Given the description of an element on the screen output the (x, y) to click on. 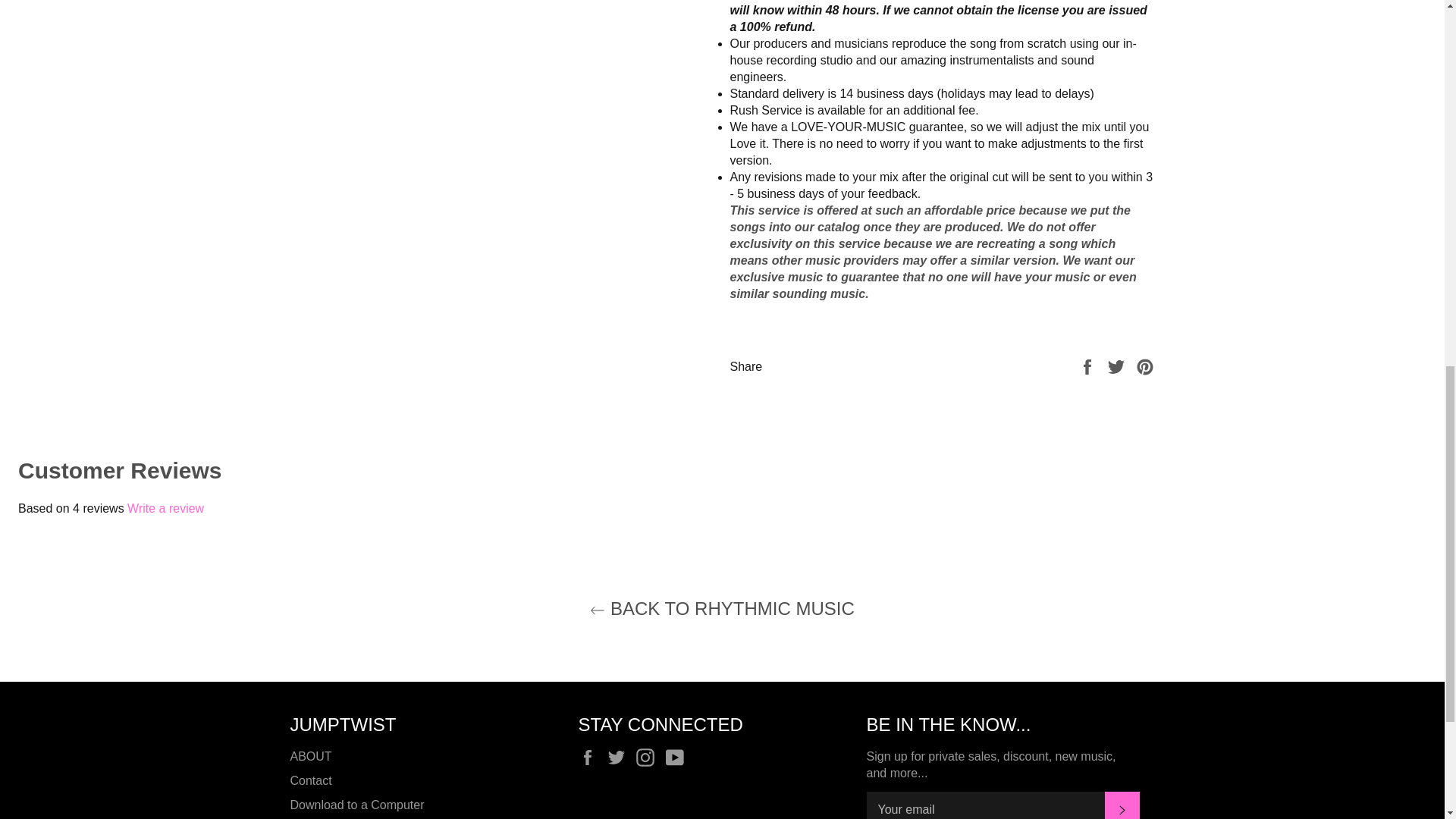
Tweet on Twitter (1117, 366)
Jumptwist  on YouTube (678, 757)
Pin on Pinterest (1144, 366)
Share on Facebook (1088, 366)
Jumptwist  on Facebook (591, 757)
Jumptwist  on Twitter (620, 757)
Jumptwist  on Instagram (649, 757)
